Given the description of an element on the screen output the (x, y) to click on. 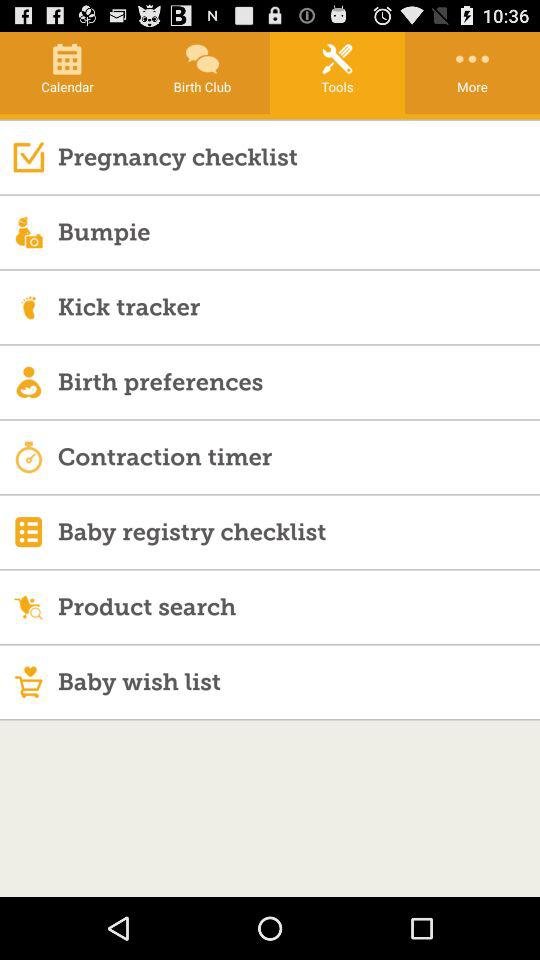
jump until the pregnancy checklist item (298, 156)
